Given the description of an element on the screen output the (x, y) to click on. 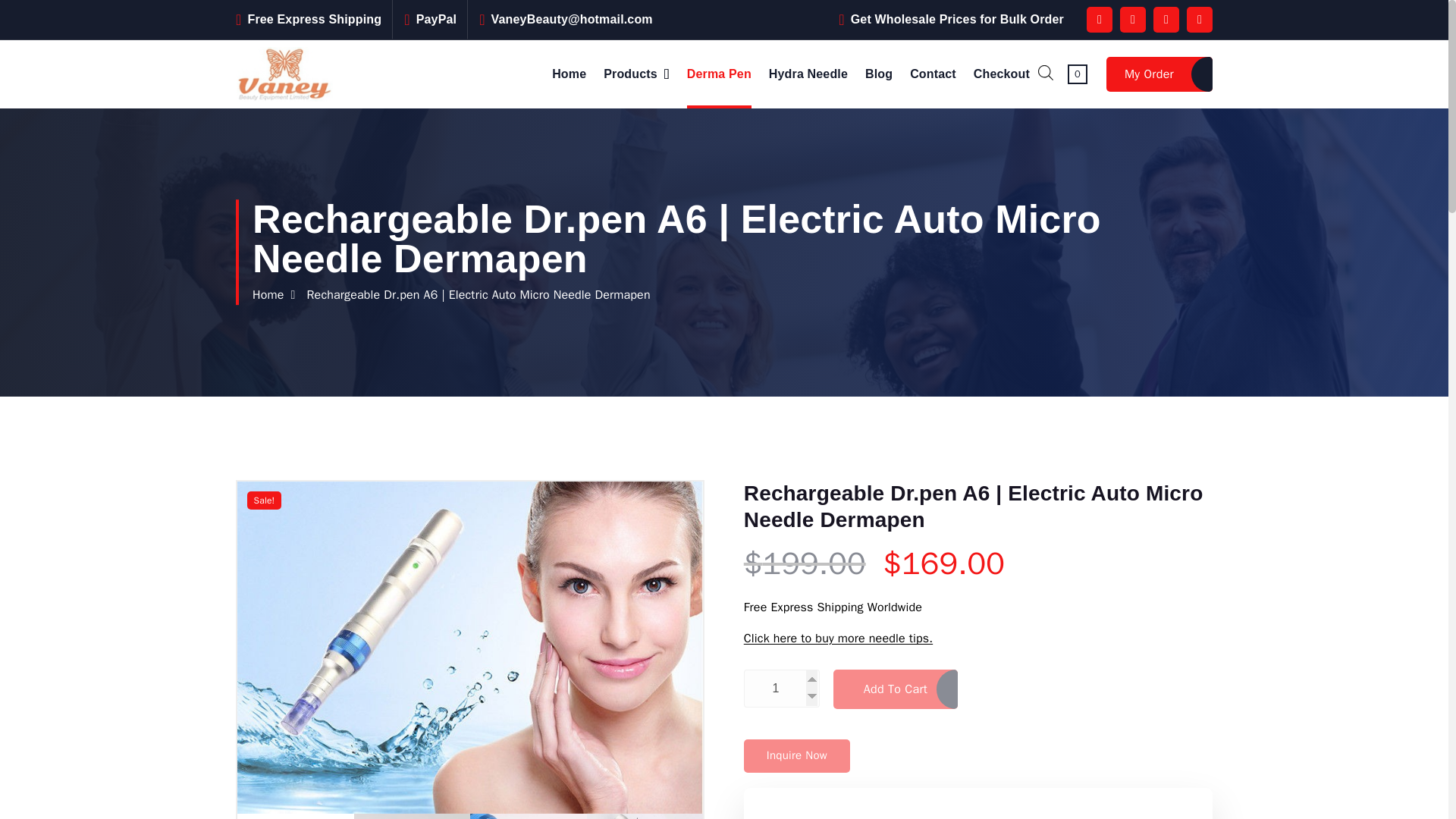
Hydra Needle (807, 74)
Products (636, 74)
0 (1077, 73)
Inquire Now (797, 756)
Products (636, 74)
PayPal (436, 19)
1 (781, 688)
Derma Pen (719, 74)
Hydra Needle (807, 74)
Derma Pen (719, 74)
Get Wholesale Prices for Bulk Order (957, 19)
My Order (1159, 73)
Free Express Shipping (314, 19)
